Given the description of an element on the screen output the (x, y) to click on. 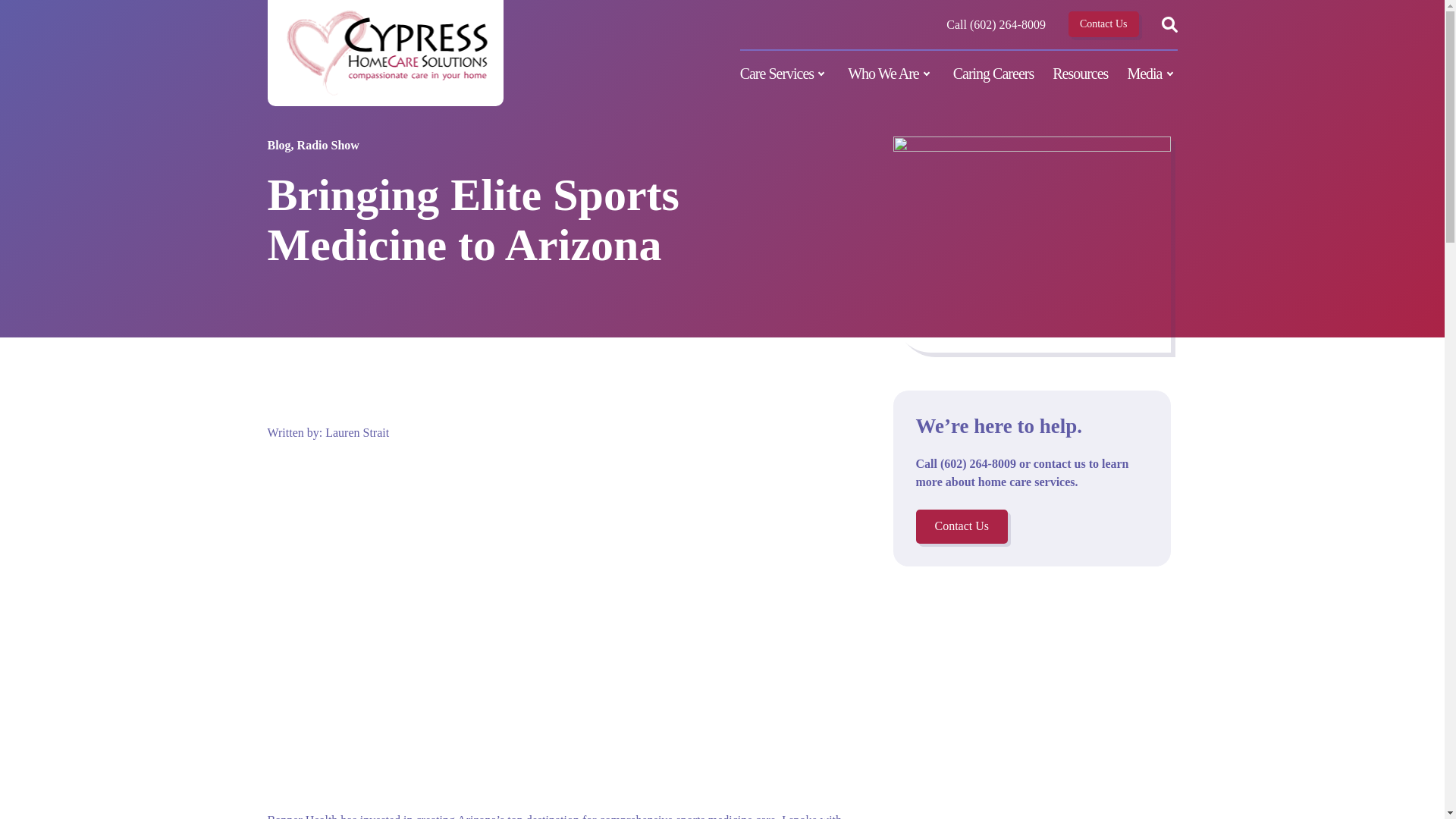
Caring Careers (993, 73)
Home Care Scottsdale (384, 53)
Contact Us (962, 526)
Blog (277, 399)
Search (1169, 24)
Care Services (784, 73)
Contact Us (1103, 23)
Media (1151, 73)
Resources (1080, 73)
Who We Are (890, 73)
